Given the description of an element on the screen output the (x, y) to click on. 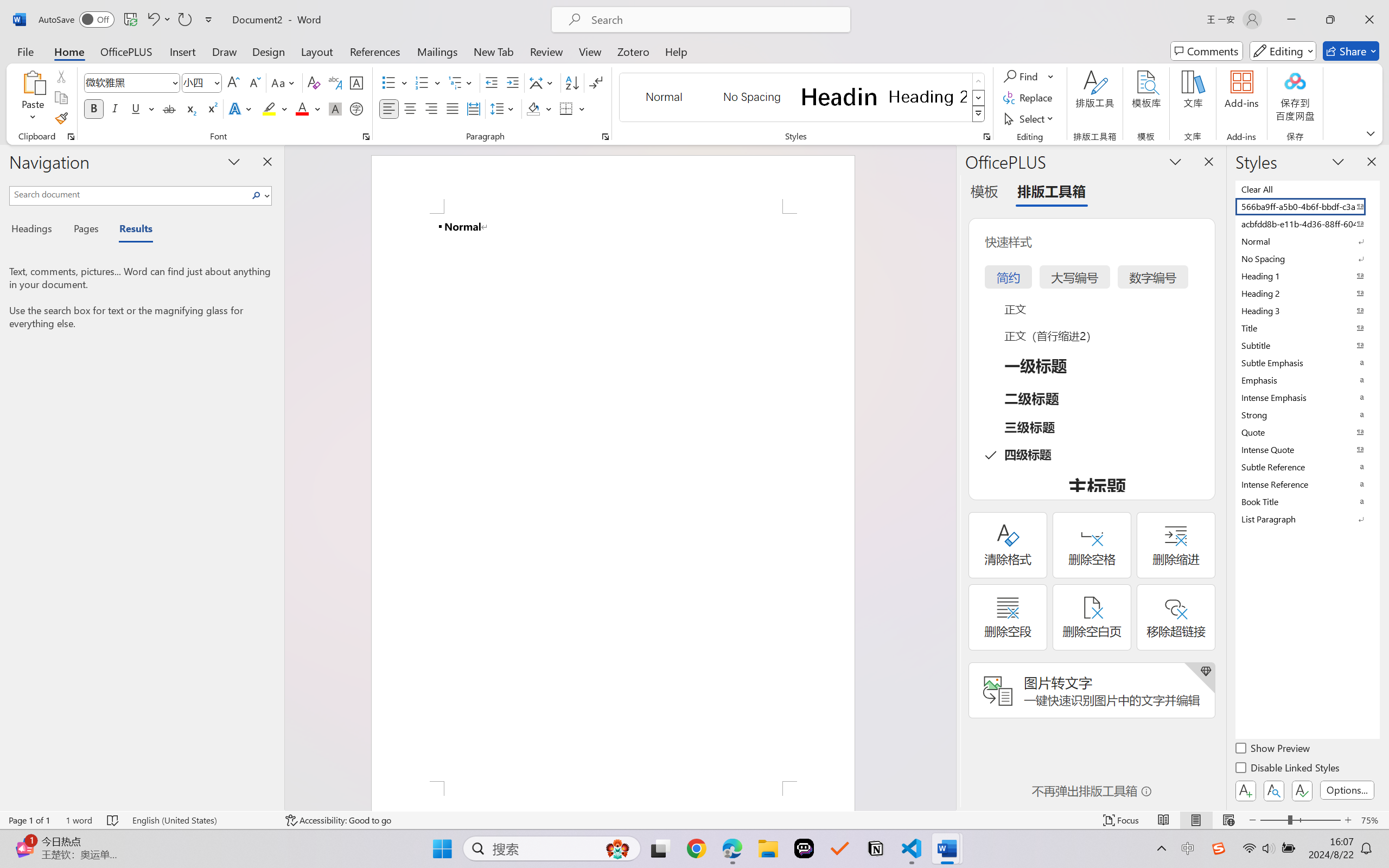
Text Highlight Color Yellow (269, 108)
Borders (571, 108)
Accessibility Checker Accessibility: Good to go (338, 819)
Text Effects and Typography (241, 108)
Distributed (473, 108)
View (589, 51)
Save (130, 19)
Intense Quote (1306, 449)
Numbering (428, 82)
Asian Layout (542, 82)
Line and Paragraph Spacing (503, 108)
Superscript (210, 108)
